Given the description of an element on the screen output the (x, y) to click on. 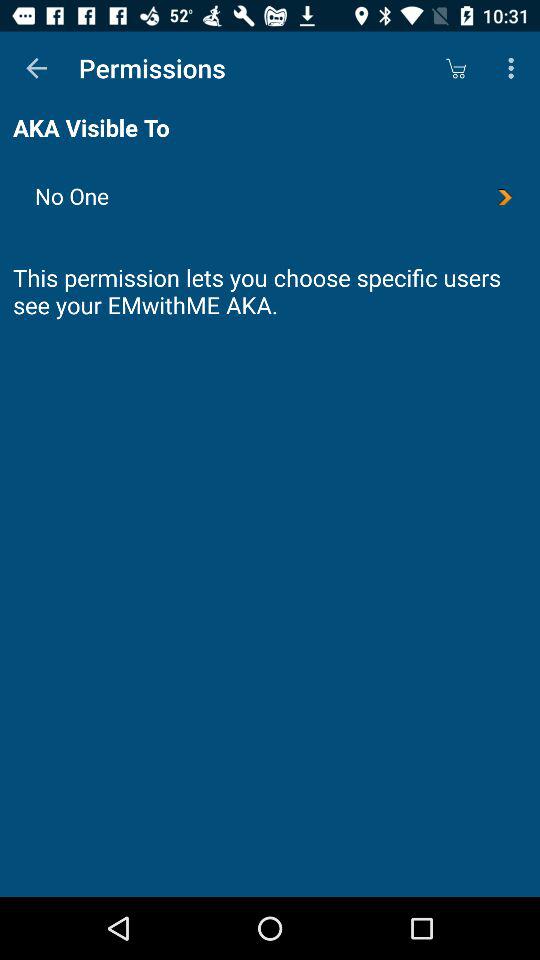
open the icon above the no one icon (455, 67)
